Given the description of an element on the screen output the (x, y) to click on. 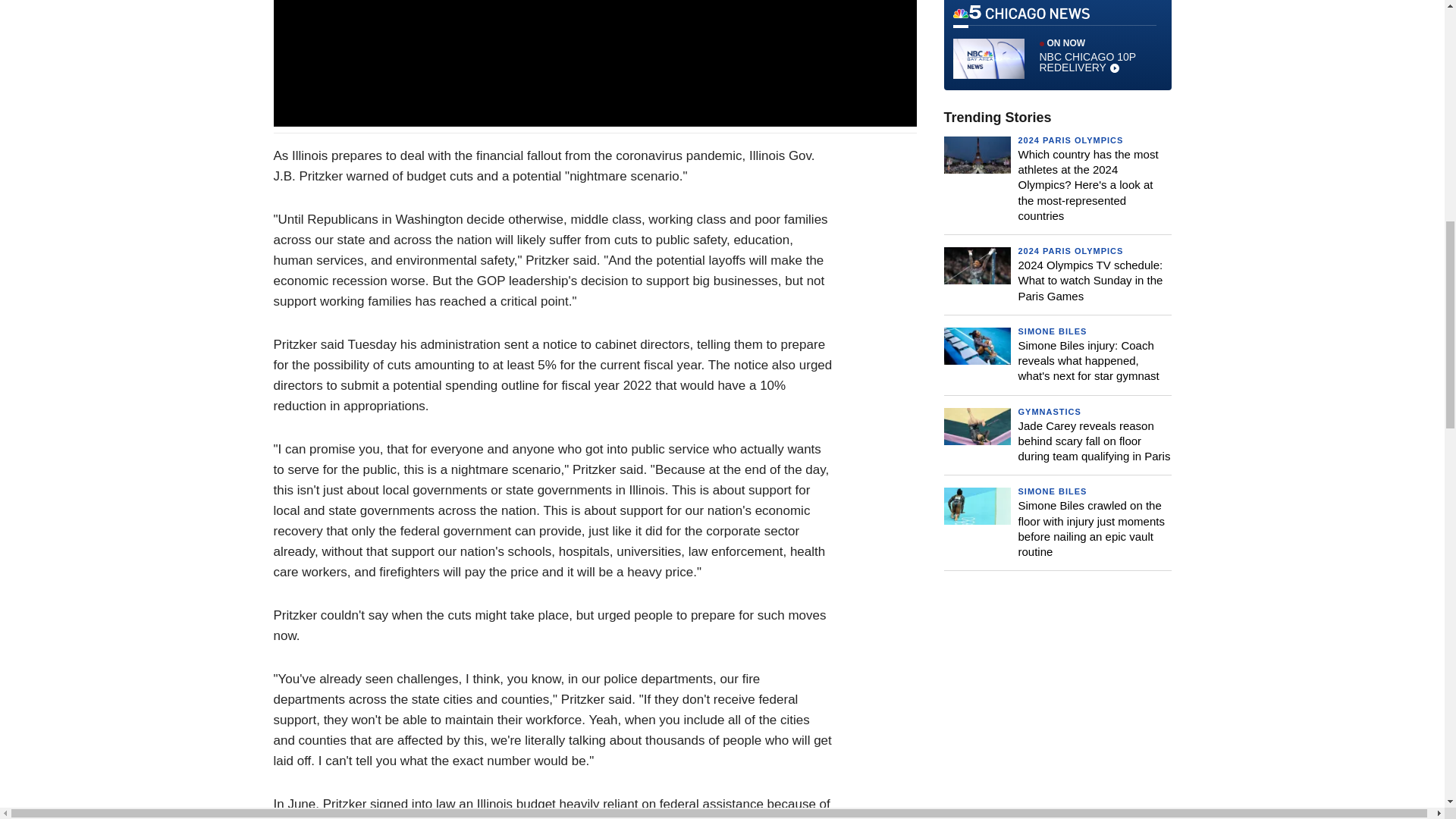
3rd party ad content (1056, 708)
